Given the description of an element on the screen output the (x, y) to click on. 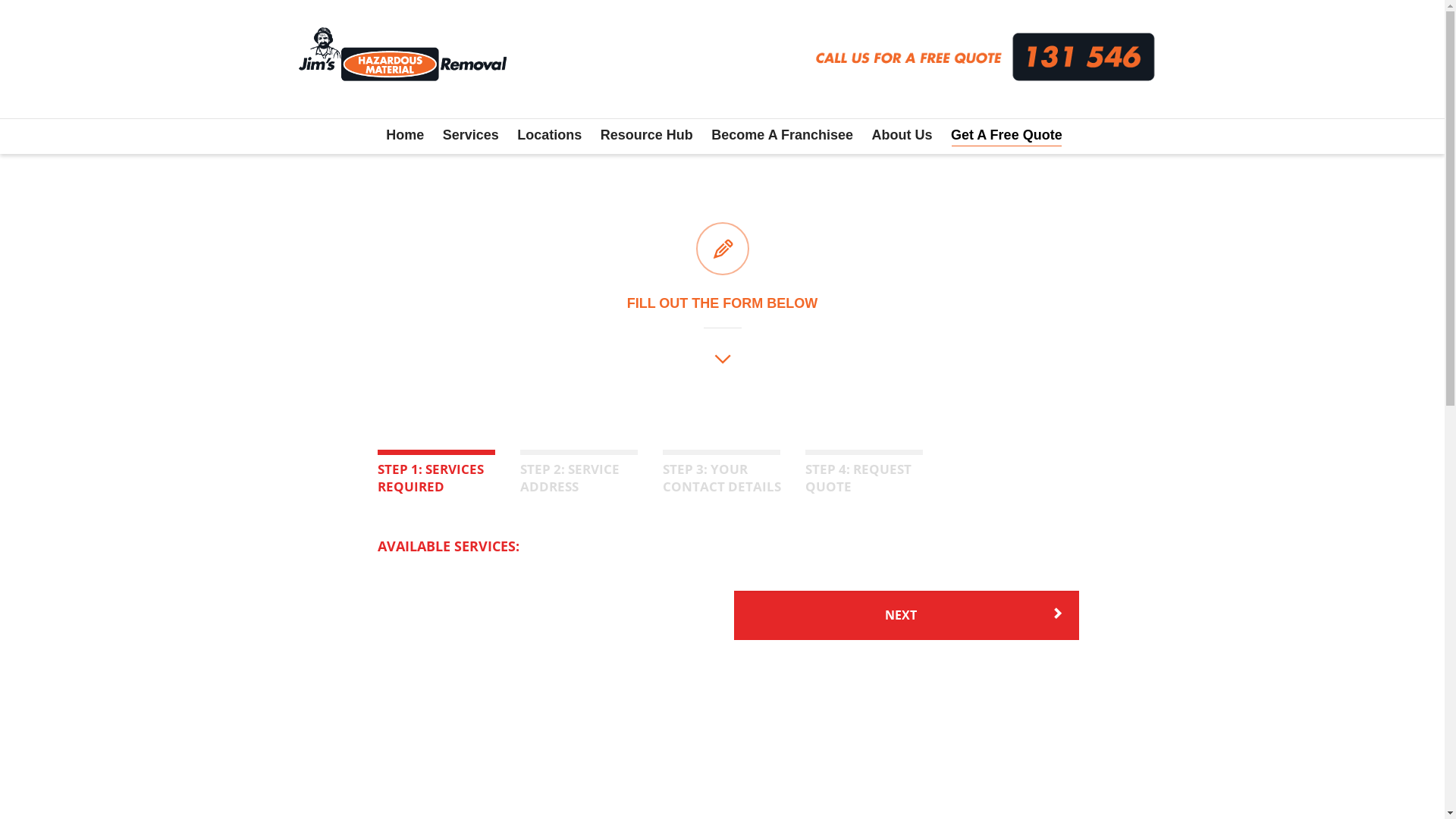
Locations Element type: text (549, 135)
Resource Hub Element type: text (646, 135)
Become A Franchisee Element type: text (782, 135)
Services Element type: text (470, 135)
About Us Element type: text (902, 135)
Home Element type: text (404, 135)
Get A Free Quote Element type: text (1006, 135)
